Given the description of an element on the screen output the (x, y) to click on. 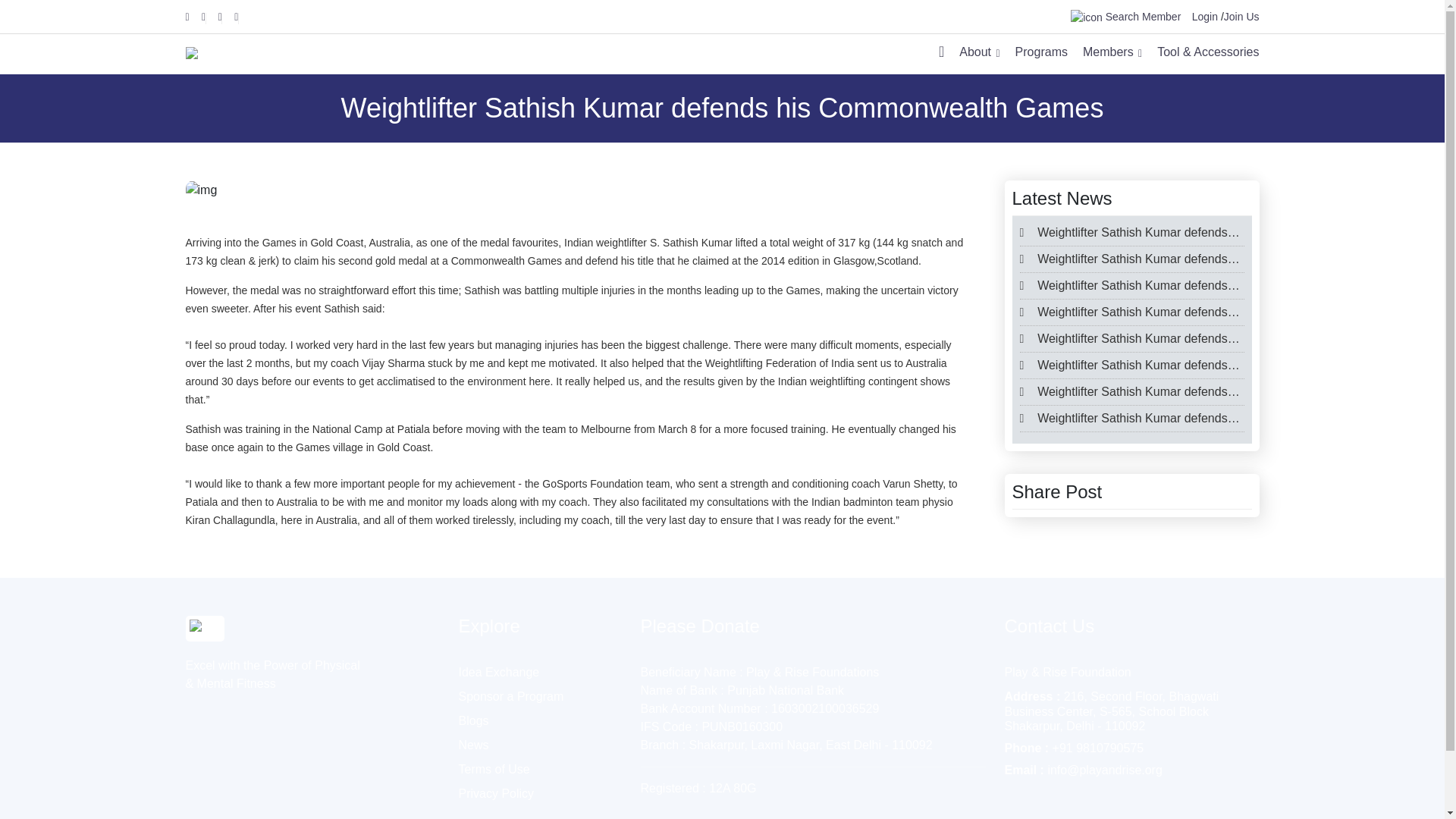
About (978, 54)
Login (1204, 17)
Sponsor a Program (510, 696)
Members (1112, 54)
Join Us (1241, 17)
Search Member (1125, 17)
Programs (1040, 54)
